Given the description of an element on the screen output the (x, y) to click on. 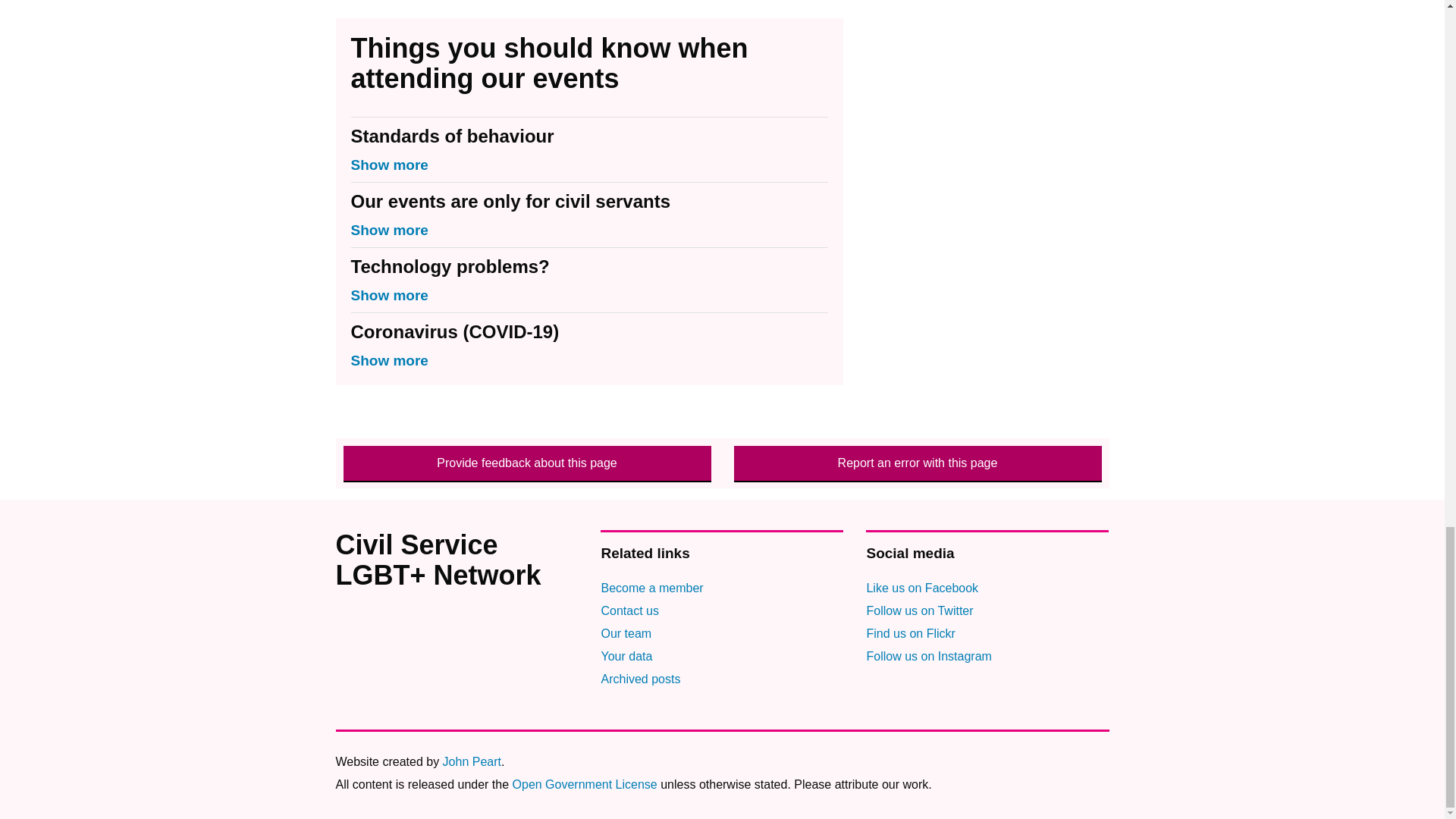
Read our data and privacy policy (625, 656)
Provide feedback about this page (526, 462)
Open Government License (585, 784)
Our team (624, 633)
Your data (625, 656)
Find us on Flickr (910, 633)
View archived news posts (639, 678)
Archived posts (639, 678)
Report an error with this page (917, 462)
John Peart (471, 761)
